Given the description of an element on the screen output the (x, y) to click on. 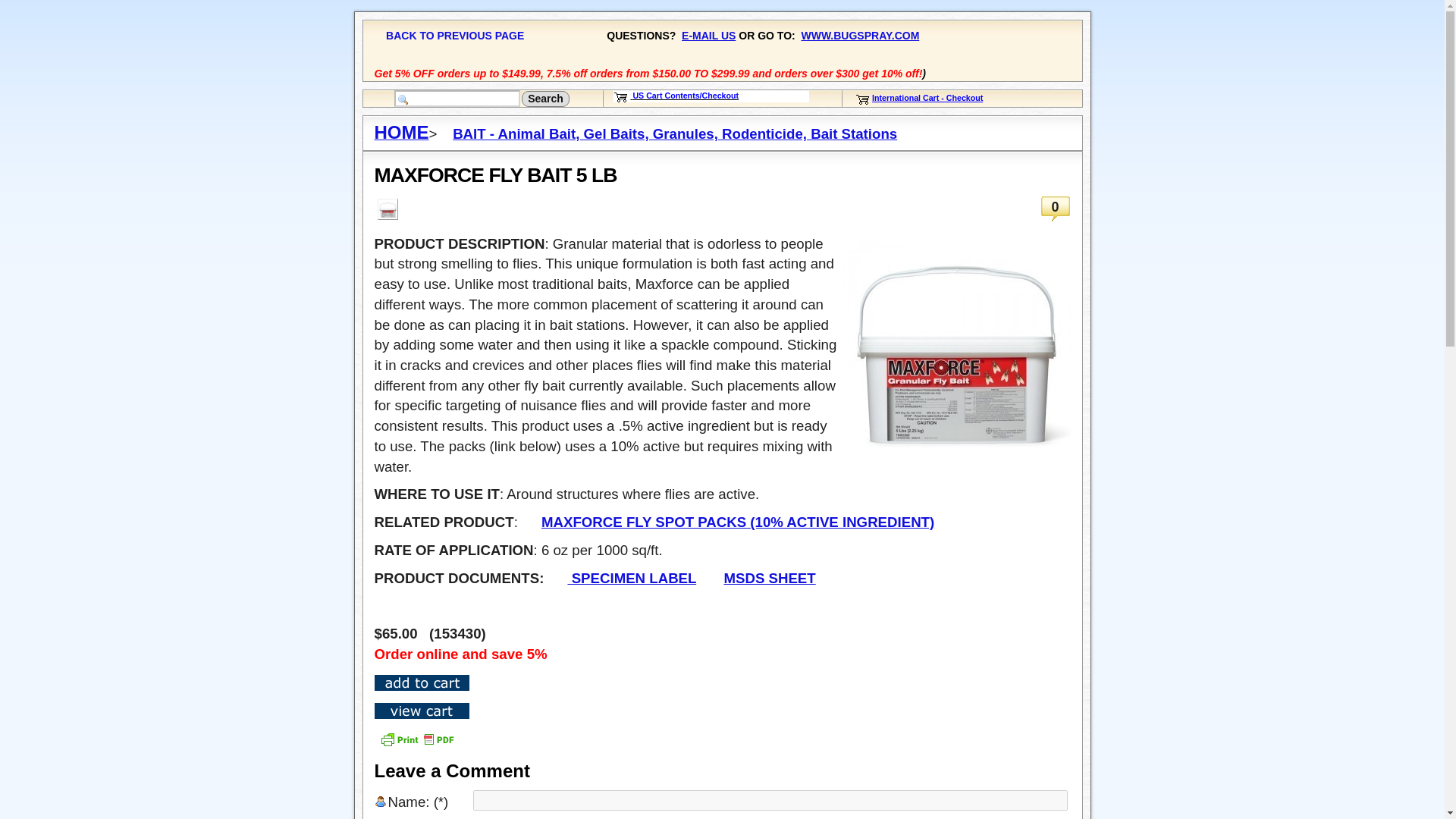
0 (1055, 209)
SPECIMEN LABEL (631, 578)
Search (545, 98)
BACK TO PREVIOUS PAGE (454, 35)
International Cart - Checkout (927, 97)
HOME (401, 133)
E-MAIL US (708, 35)
Search (545, 98)
WWW.BUGSPRAY.COM (859, 35)
MSDS SHEET (769, 578)
